Given the description of an element on the screen output the (x, y) to click on. 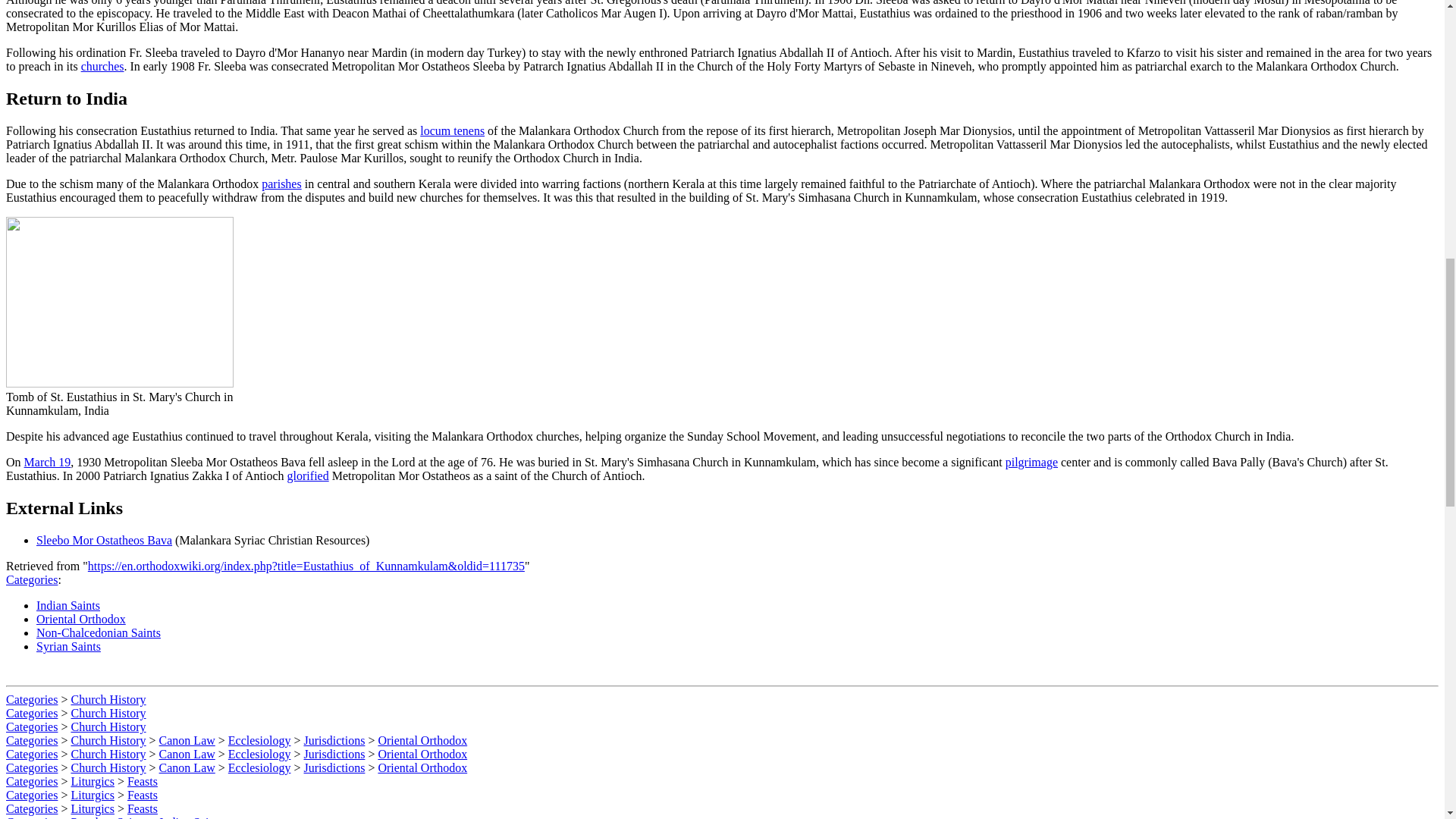
locum tenens (452, 130)
parishes (281, 183)
churches (102, 65)
